Given the description of an element on the screen output the (x, y) to click on. 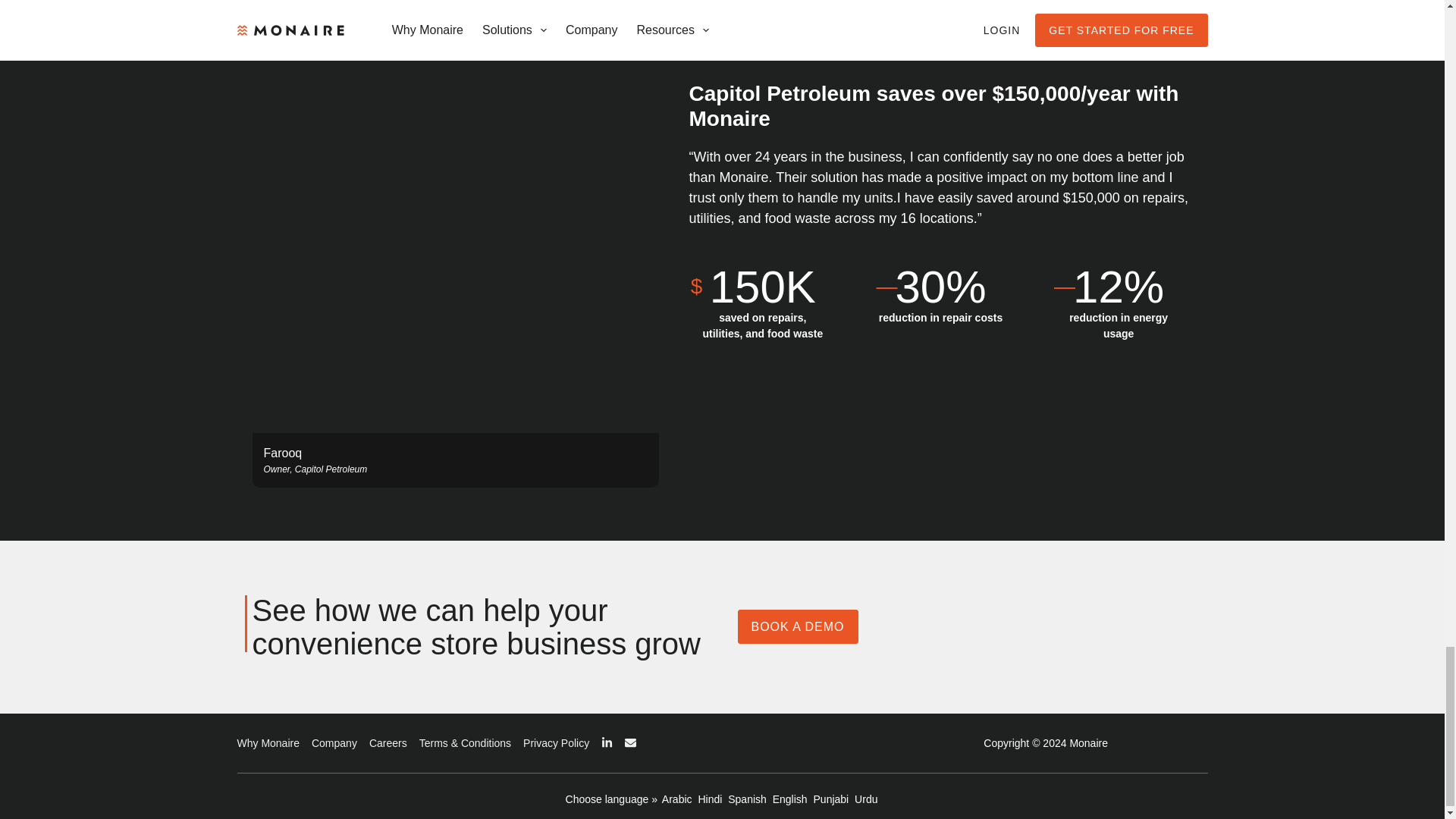
Hindi (709, 799)
Arabic (677, 799)
Why Monaire (267, 743)
English (790, 799)
Privacy Policy (555, 743)
Punjabi (831, 799)
Careers (387, 743)
Company (333, 743)
Spanish (747, 799)
BOOK A DEMO (796, 626)
Urdu (866, 799)
